Given the description of an element on the screen output the (x, y) to click on. 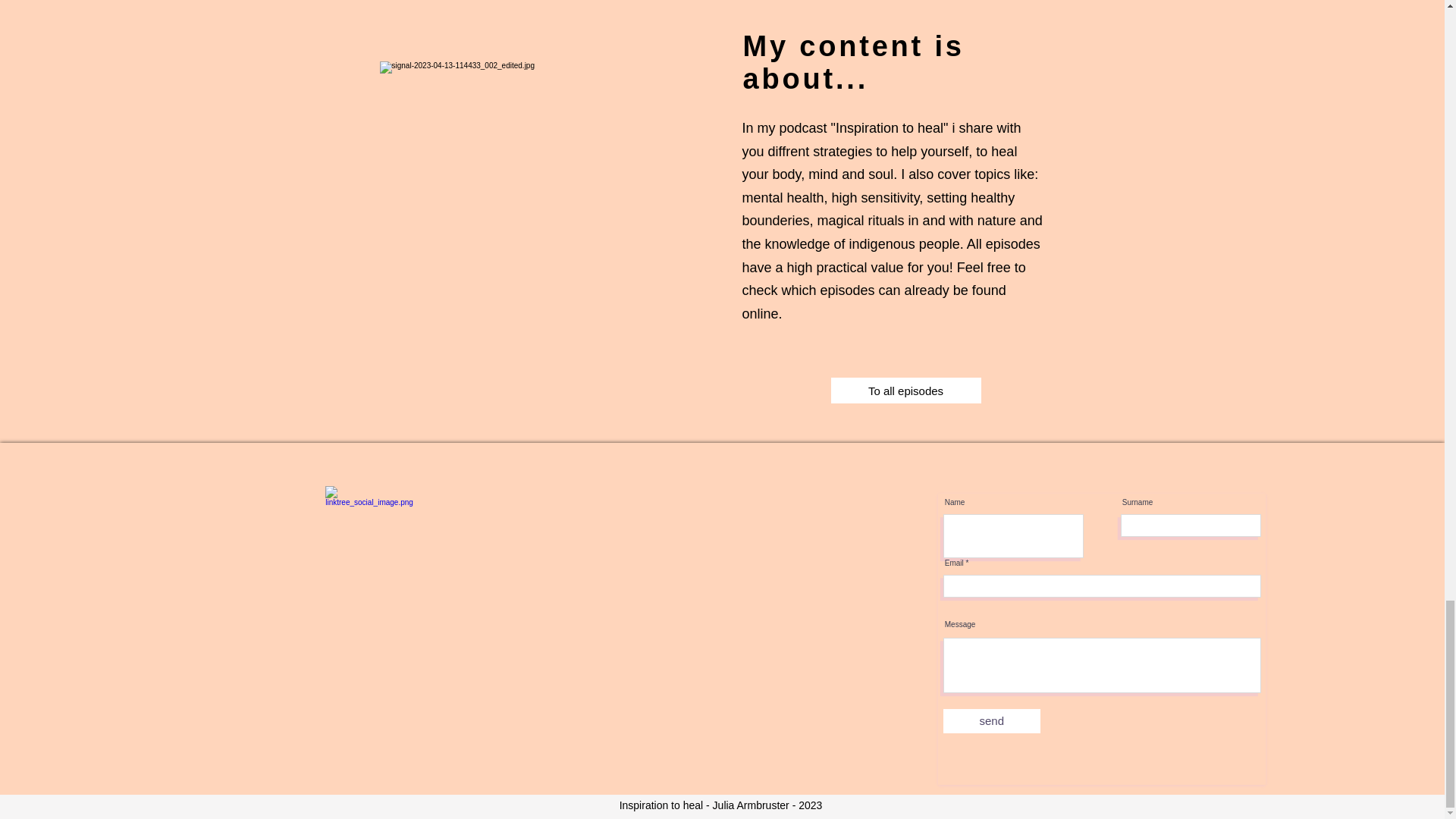
To all episodes (906, 390)
send (992, 721)
